Given the description of an element on the screen output the (x, y) to click on. 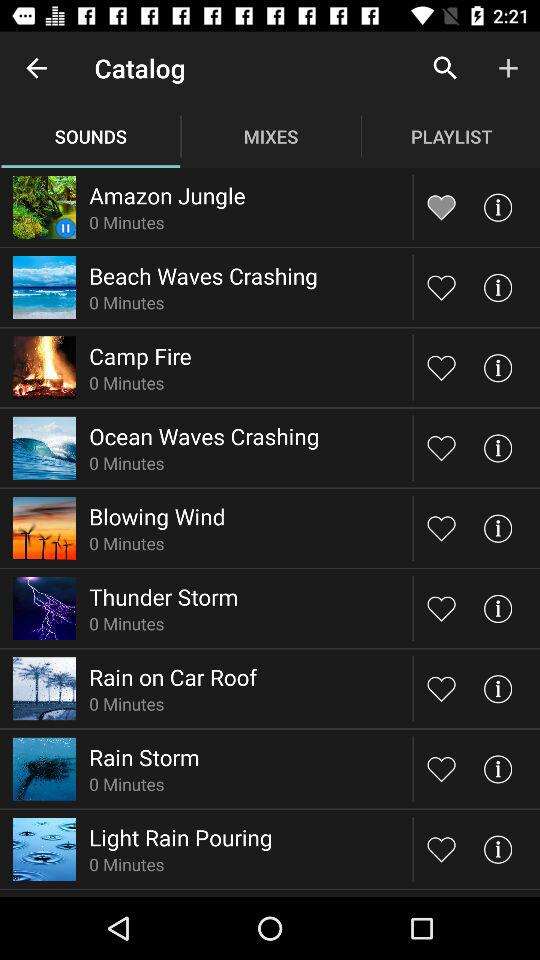
provide more information (498, 527)
